Given the description of an element on the screen output the (x, y) to click on. 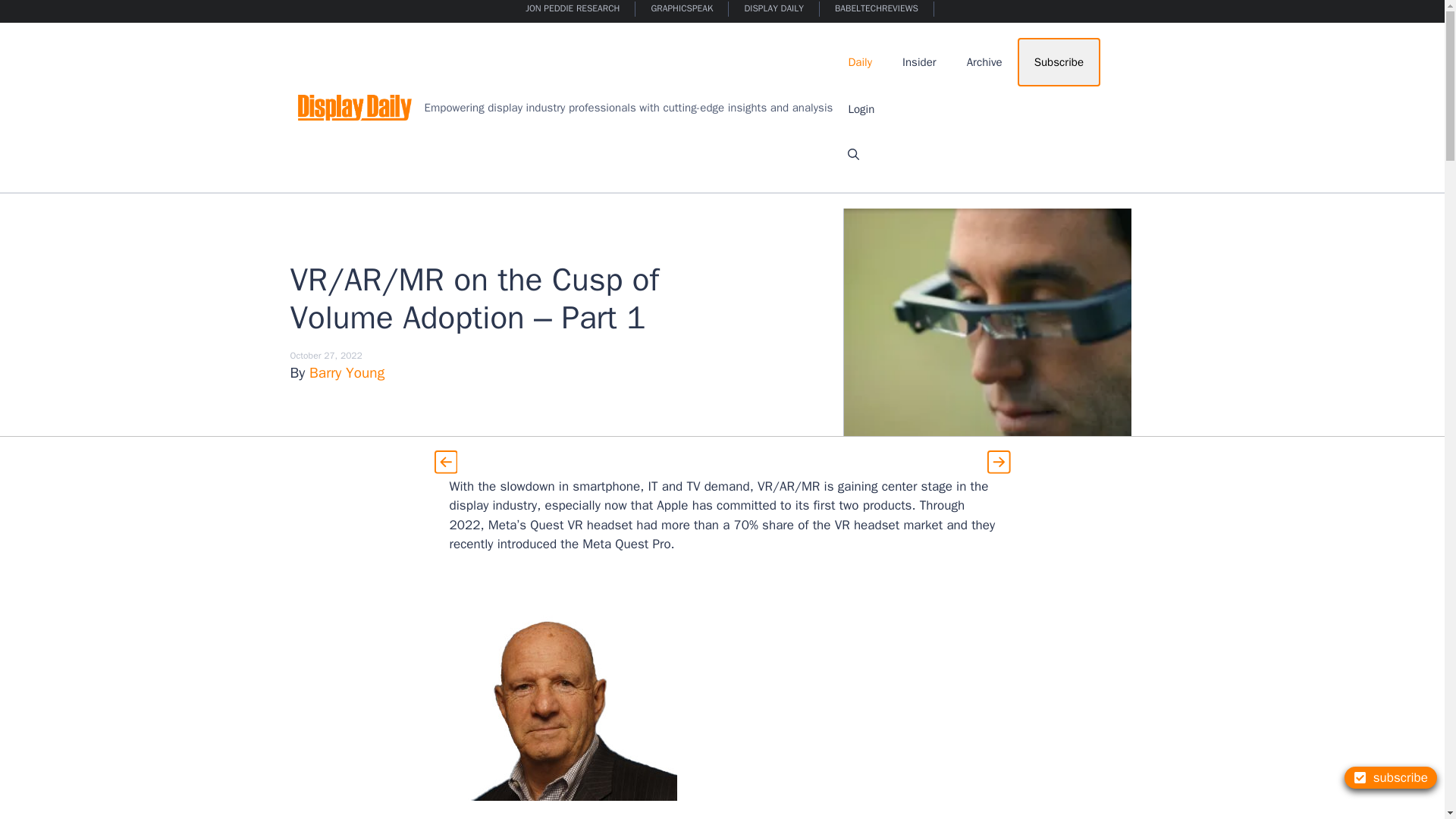
Archive (984, 62)
Barry Young (346, 372)
subscribe (1390, 776)
JON PEDDIE RESEARCH (572, 8)
subscribe (1390, 776)
Subscribe (1059, 62)
Daily (859, 62)
Insider (919, 62)
GRAPHICSPEAK (681, 8)
BABELTECHREVIEWS (876, 8)
Login (860, 108)
DISPLAY DAILY (773, 8)
